Given the description of an element on the screen output the (x, y) to click on. 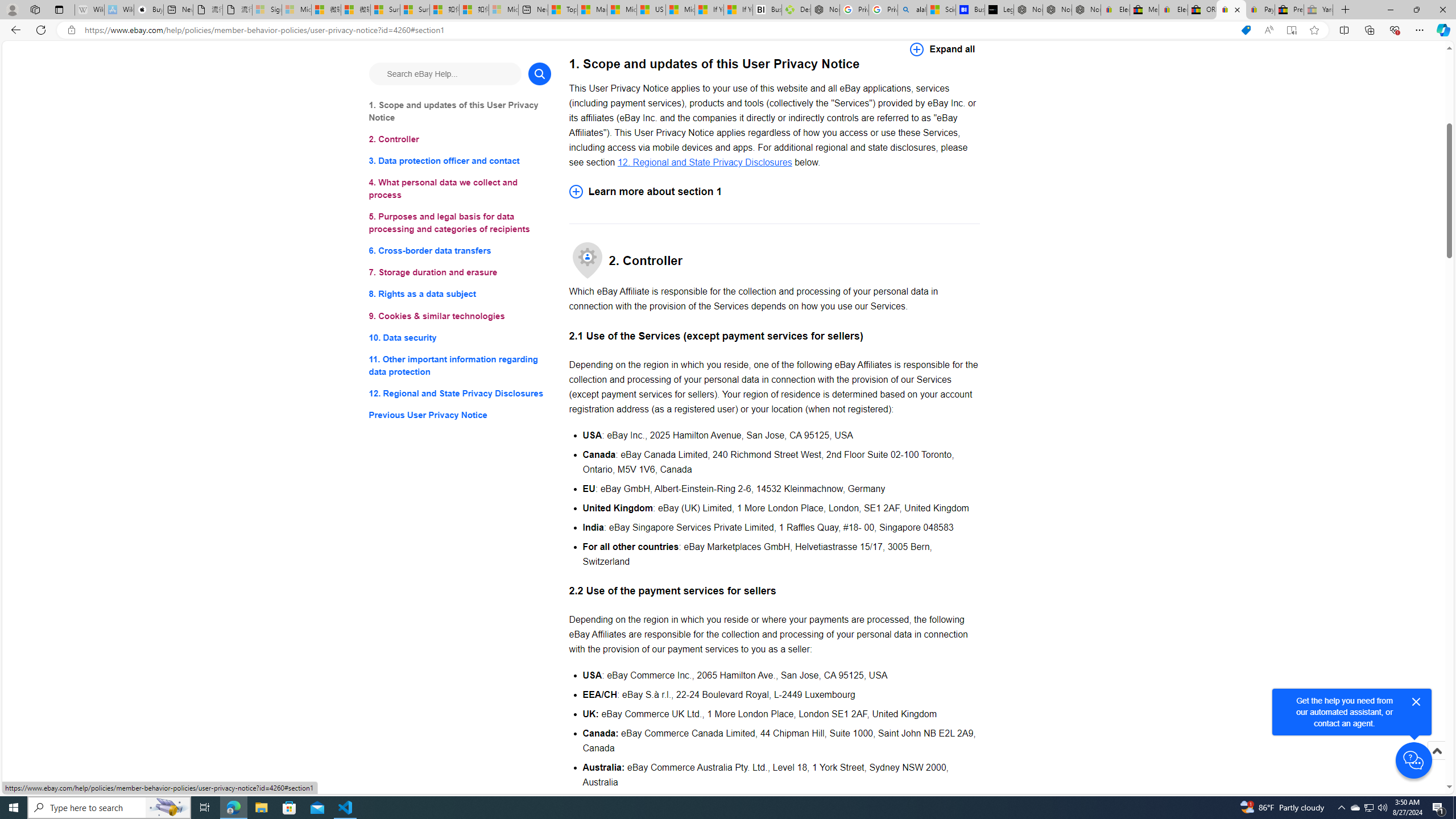
11. Other important information regarding data protection (459, 365)
3. Data protection officer and contact (459, 160)
Microsoft Services Agreement - Sleeping (295, 9)
Scroll to top (1435, 750)
Descarga Driver Updater (796, 9)
Microsoft account | Account Checkup - Sleeping (502, 9)
